Given the description of an element on the screen output the (x, y) to click on. 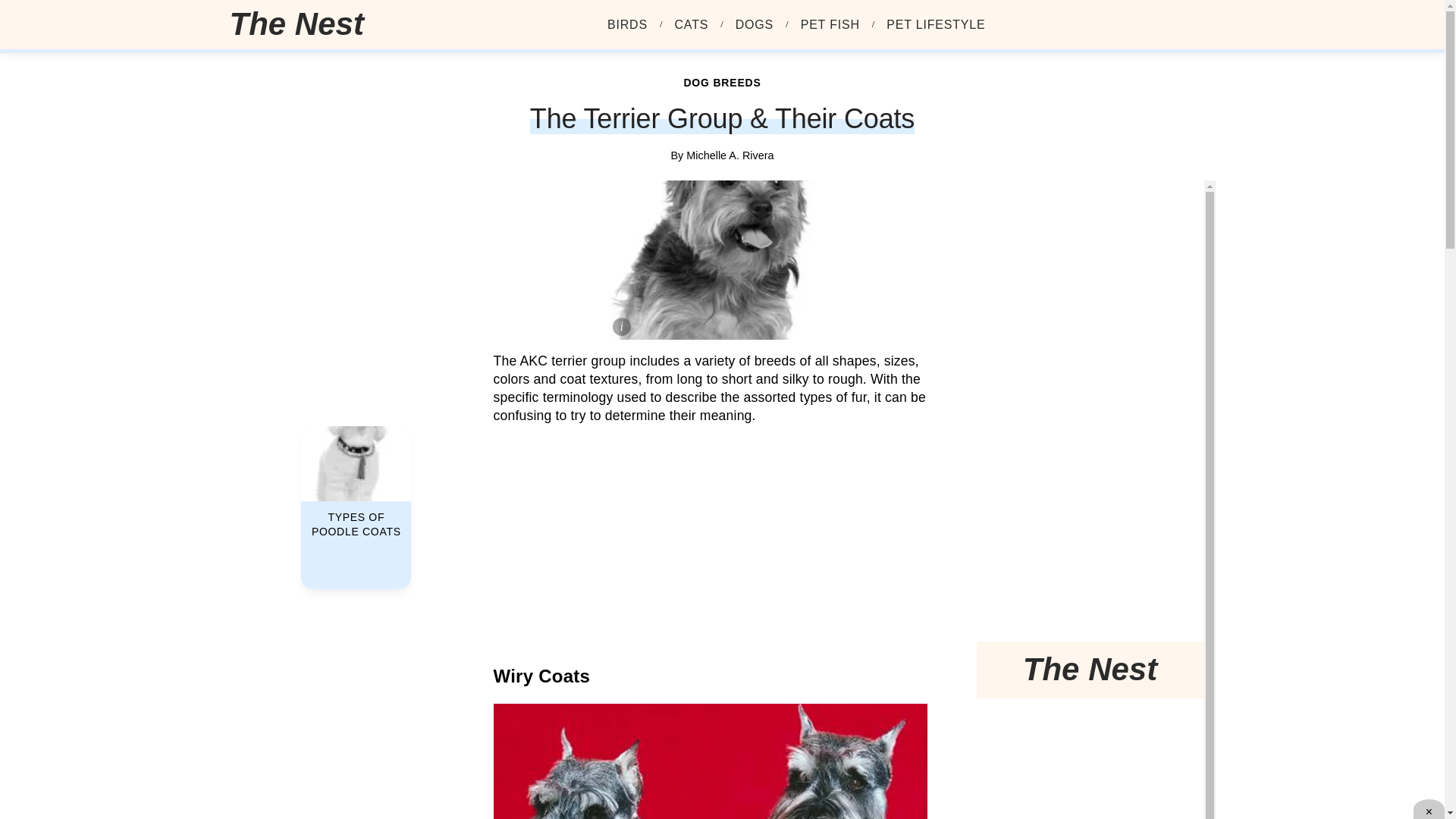
DOG BREEDS (721, 82)
BIRDS (627, 24)
PET FISH (830, 24)
DOGS (754, 24)
The Nest (295, 23)
The Nest (301, 23)
CATS (692, 24)
TYPES OF POODLE COATS (355, 486)
PET LIFESTYLE (935, 24)
